Given the description of an element on the screen output the (x, y) to click on. 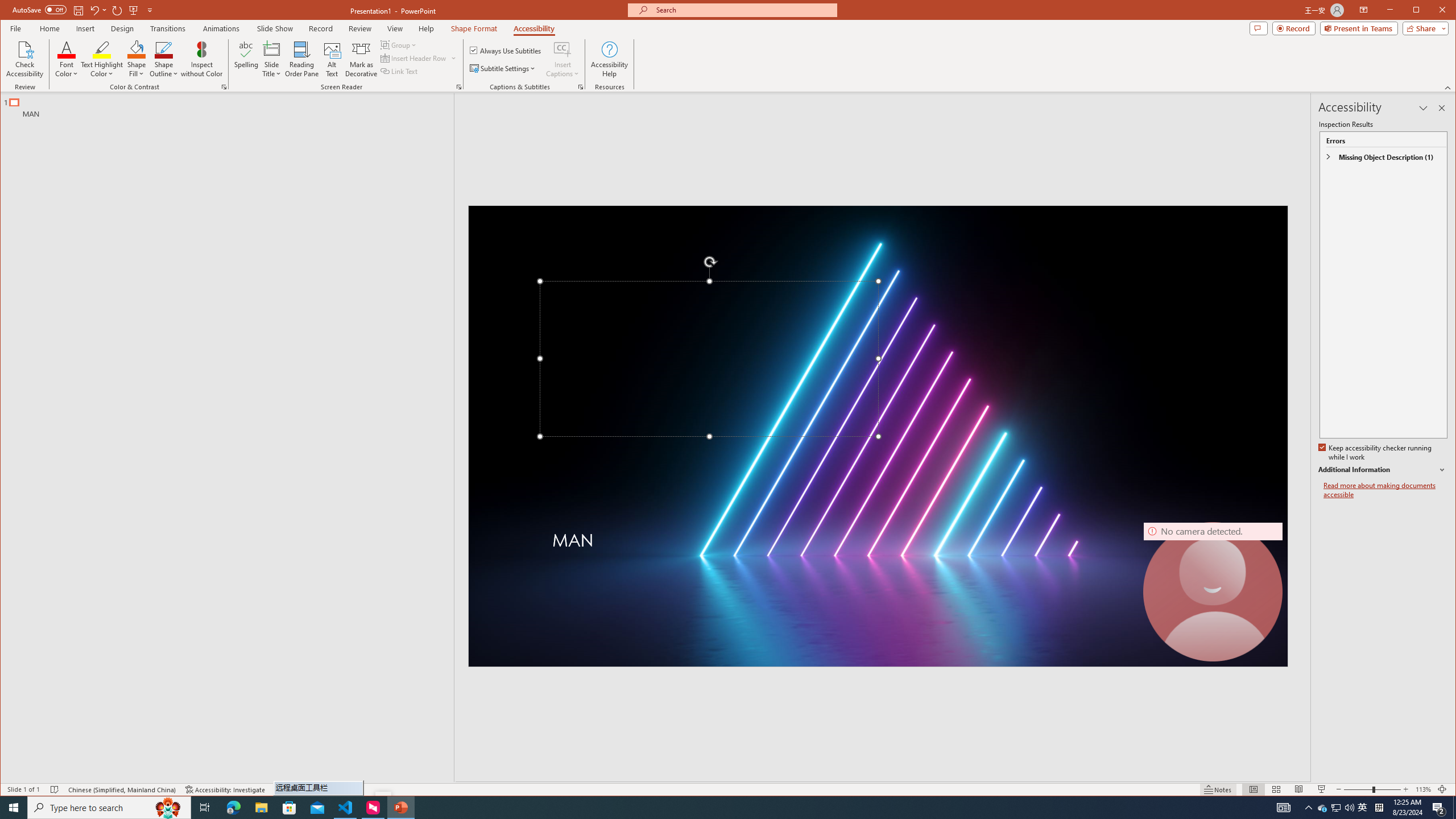
Insert Header Row (418, 57)
